Given the description of an element on the screen output the (x, y) to click on. 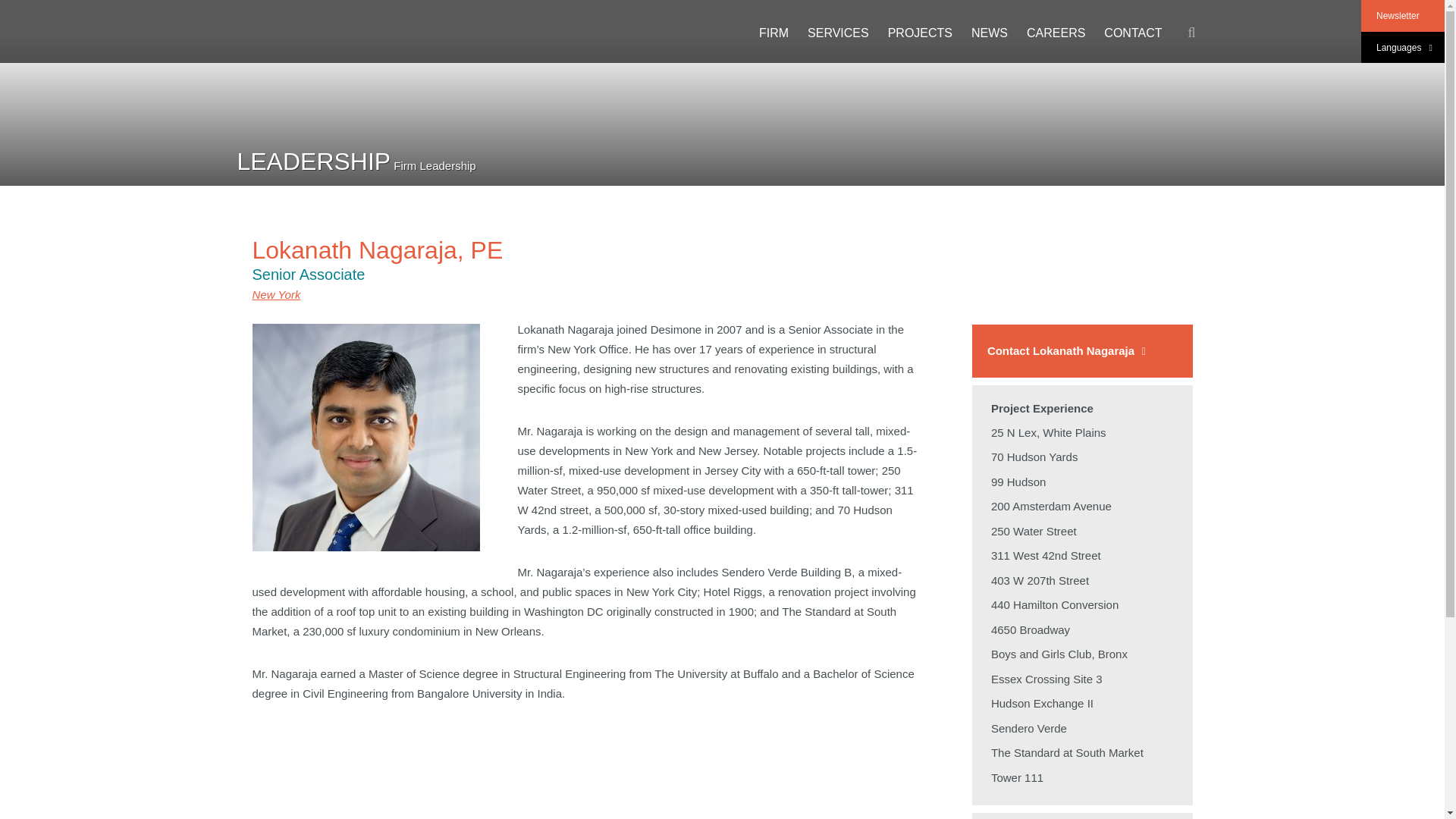
FIRM (773, 33)
PROJECTS (920, 33)
SERVICES (838, 33)
NEWS (989, 33)
